Given the description of an element on the screen output the (x, y) to click on. 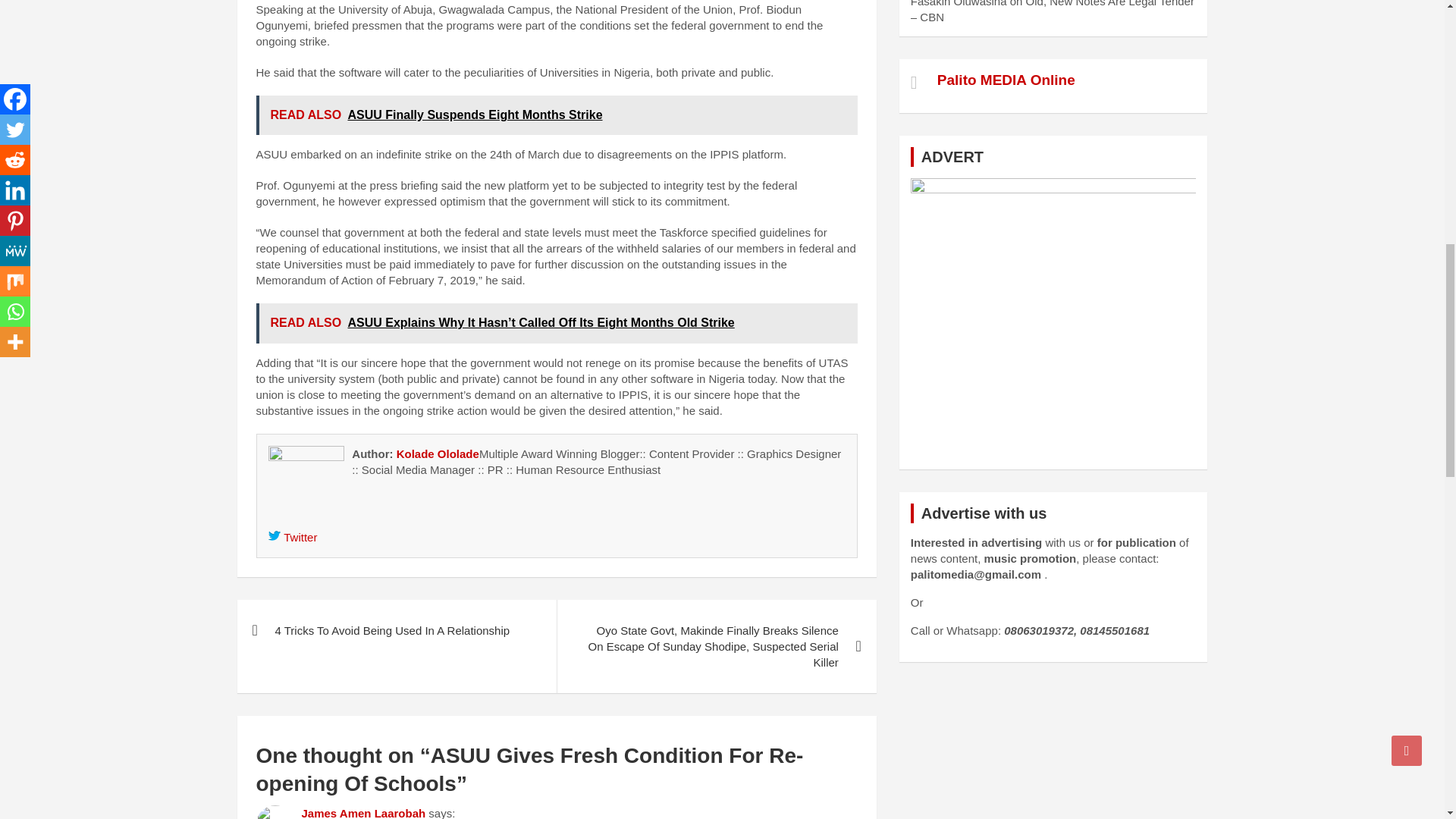
READ ALSO  ASUU Finally Suspends Eight Months Strike (556, 115)
